Given the description of an element on the screen output the (x, y) to click on. 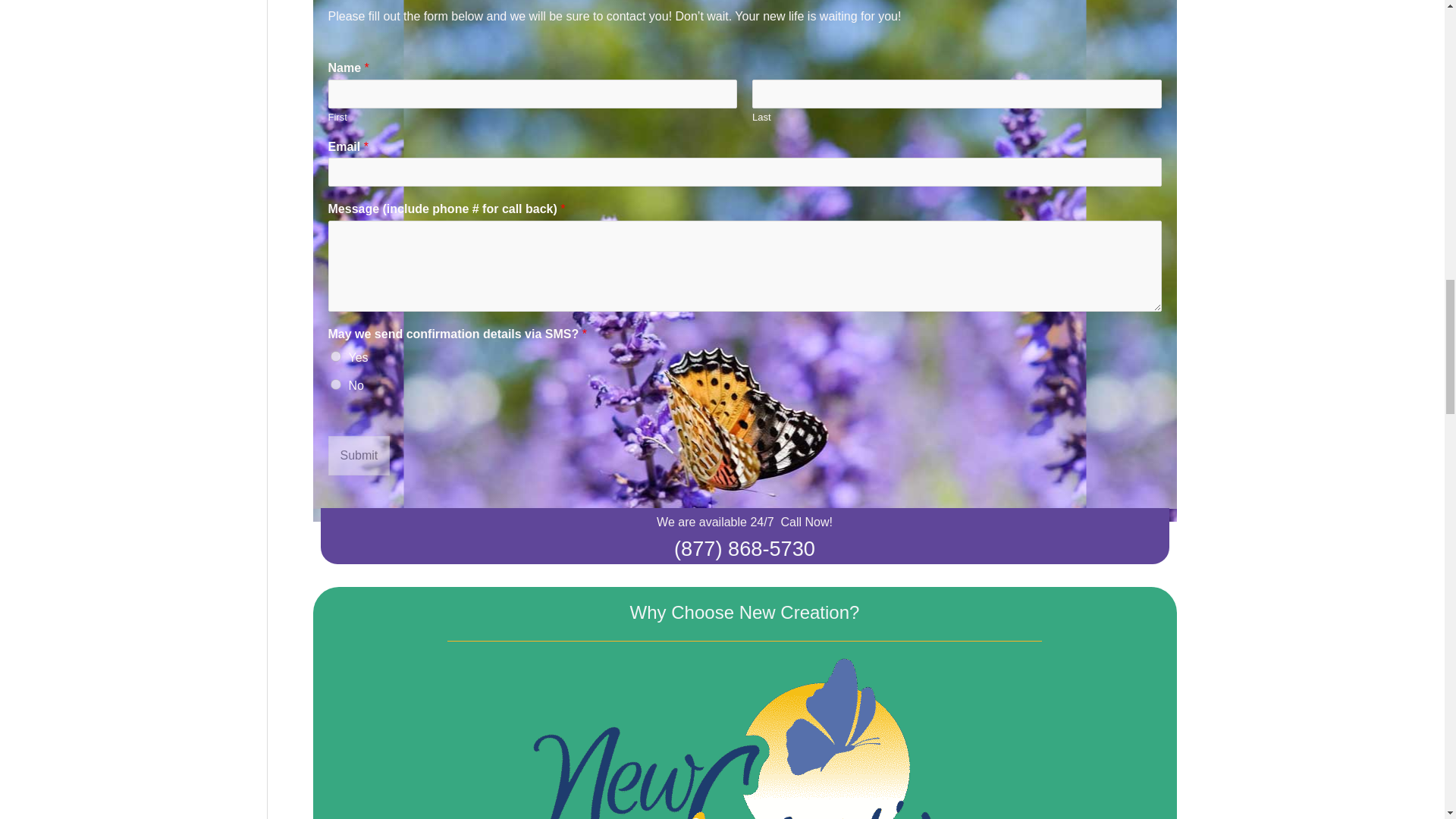
Yes (335, 356)
No (335, 384)
